Given the description of an element on the screen output the (x, y) to click on. 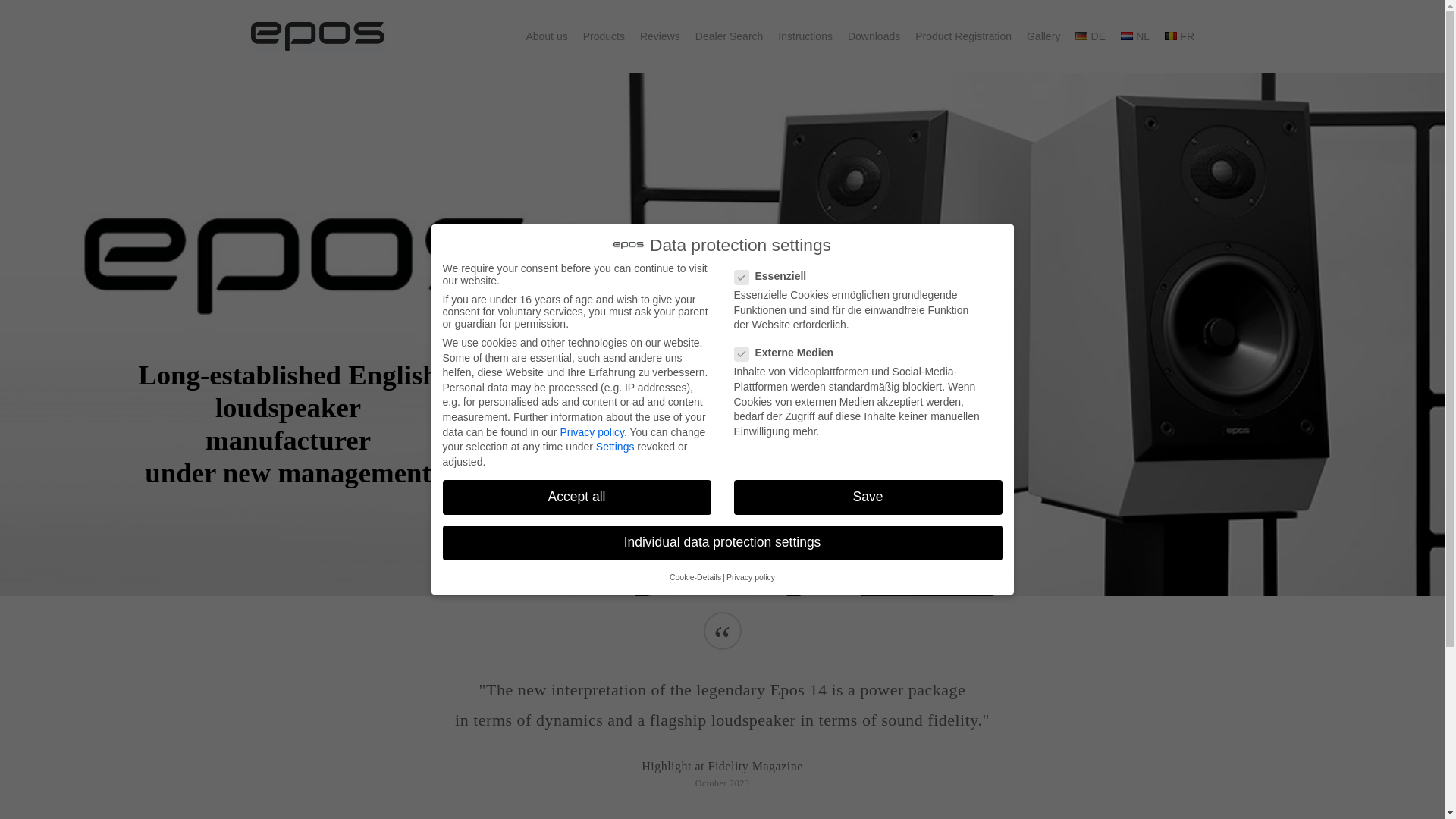
About us (546, 36)
Dealer Search (728, 36)
Reviews (659, 36)
Product Registration (963, 36)
FR (1178, 36)
DE (1090, 36)
NL (1135, 36)
Instructions (804, 36)
Gallery (1042, 36)
Products (603, 36)
Downloads (873, 36)
